Given the description of an element on the screen output the (x, y) to click on. 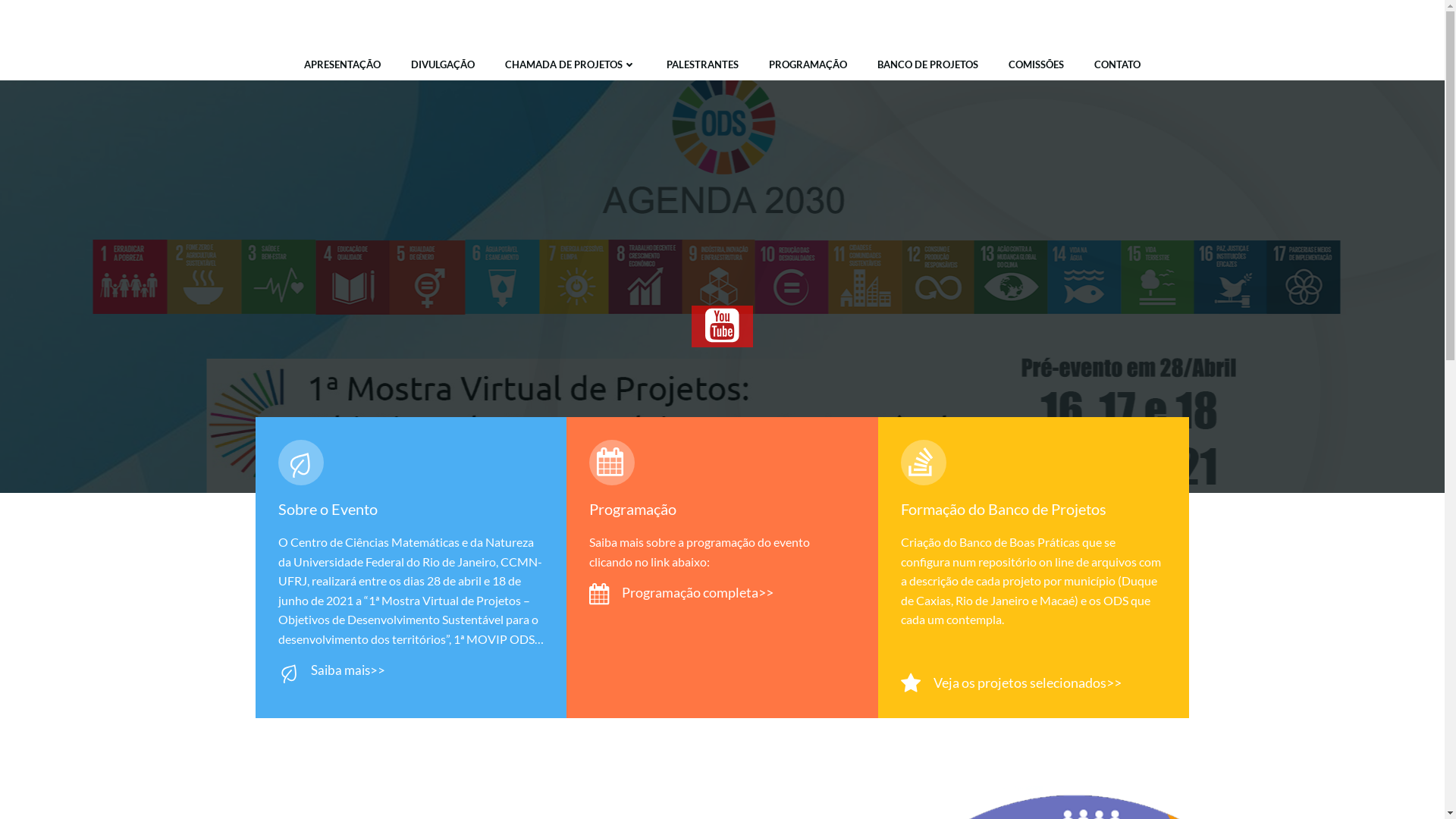
BANCO DE PROJETOS Element type: text (927, 64)
CHAMADA DE PROJETOS Element type: text (570, 64)
PALESTRANTES Element type: text (702, 64)
Saiba mais>> Element type: text (331, 671)
Veja os projetos selecionados>> Element type: text (1010, 683)
CONTATO Element type: text (1117, 64)
